Given the description of an element on the screen output the (x, y) to click on. 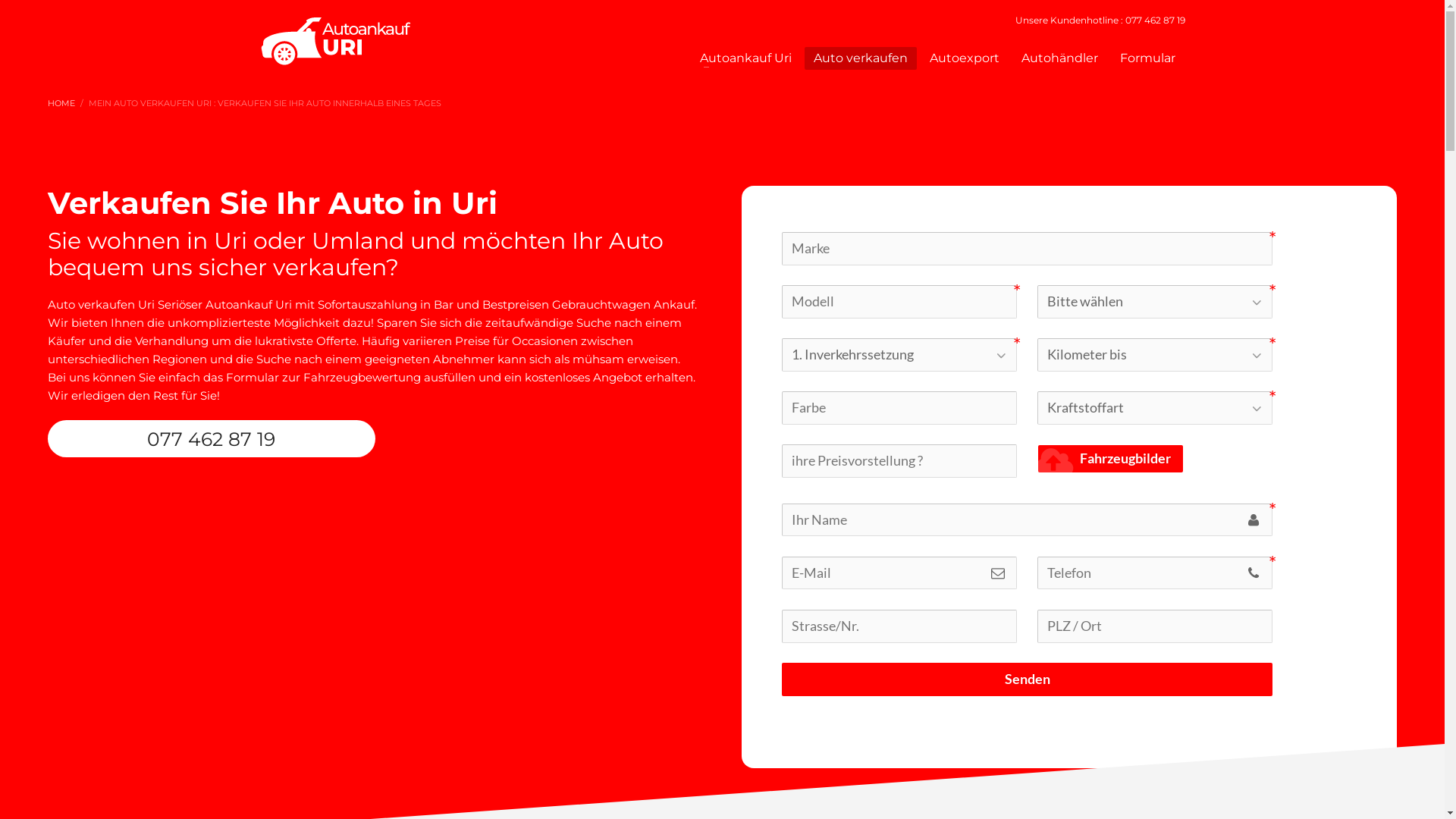
Formular Element type: text (1147, 58)
Autoankauf Uri Element type: text (745, 58)
Senden Element type: text (1026, 679)
Autoexport Element type: text (964, 58)
HOME Element type: text (61, 102)
077 462 87 19 Element type: text (211, 438)
Auto verkaufen Element type: text (860, 58)
